Given the description of an element on the screen output the (x, y) to click on. 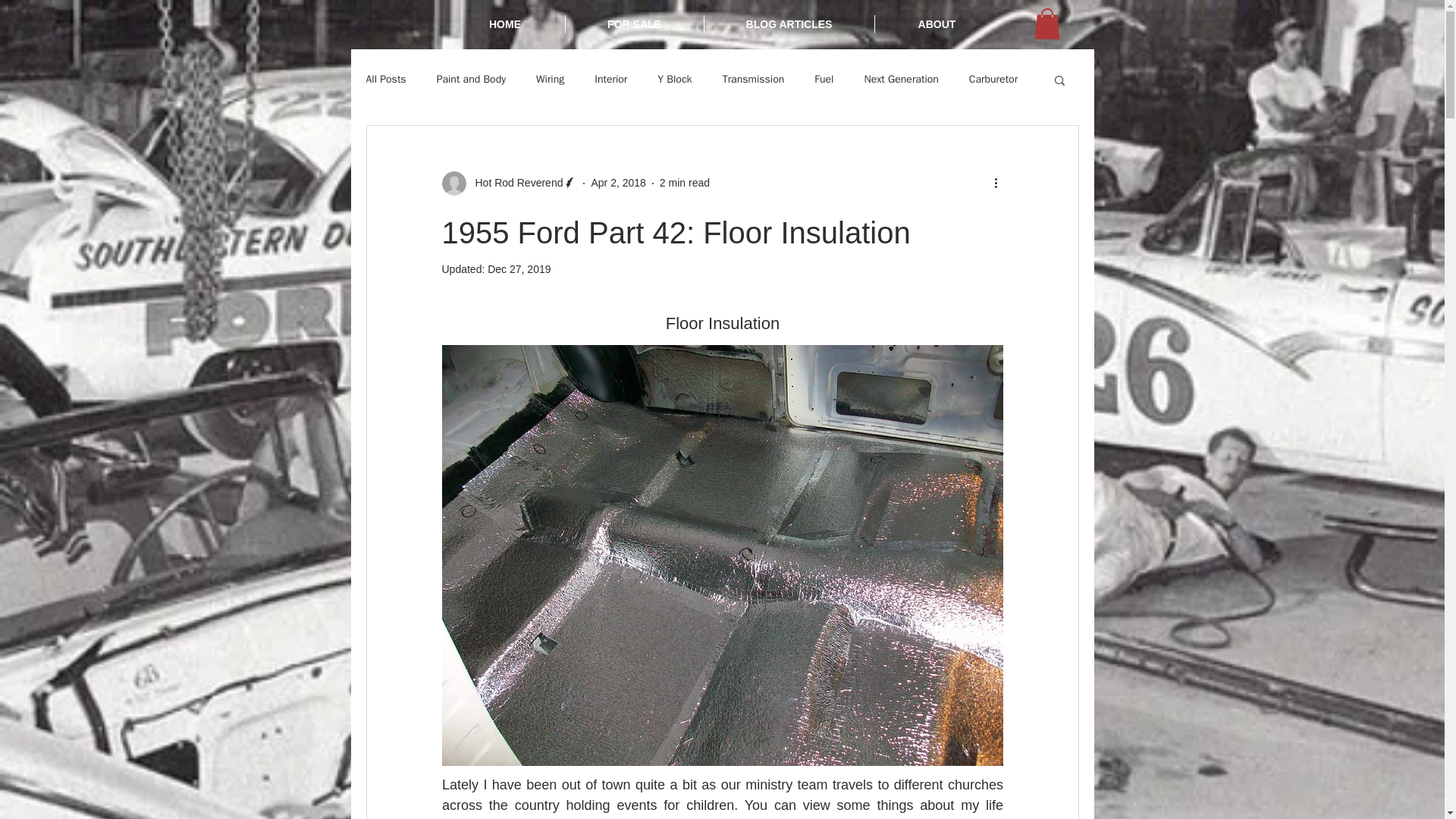
HOME (504, 24)
Wiring (549, 79)
Hot Rod Reverend (513, 182)
Paint and Body (470, 79)
FOR SALE (634, 24)
2 min read (684, 182)
Hot Rod Reverend (508, 183)
All Posts (385, 79)
Interior (610, 79)
Carburetor (993, 79)
Apr 2, 2018 (618, 182)
Next Generation (900, 79)
Dec 27, 2019 (518, 268)
Transmission (753, 79)
Fuel (822, 79)
